Given the description of an element on the screen output the (x, y) to click on. 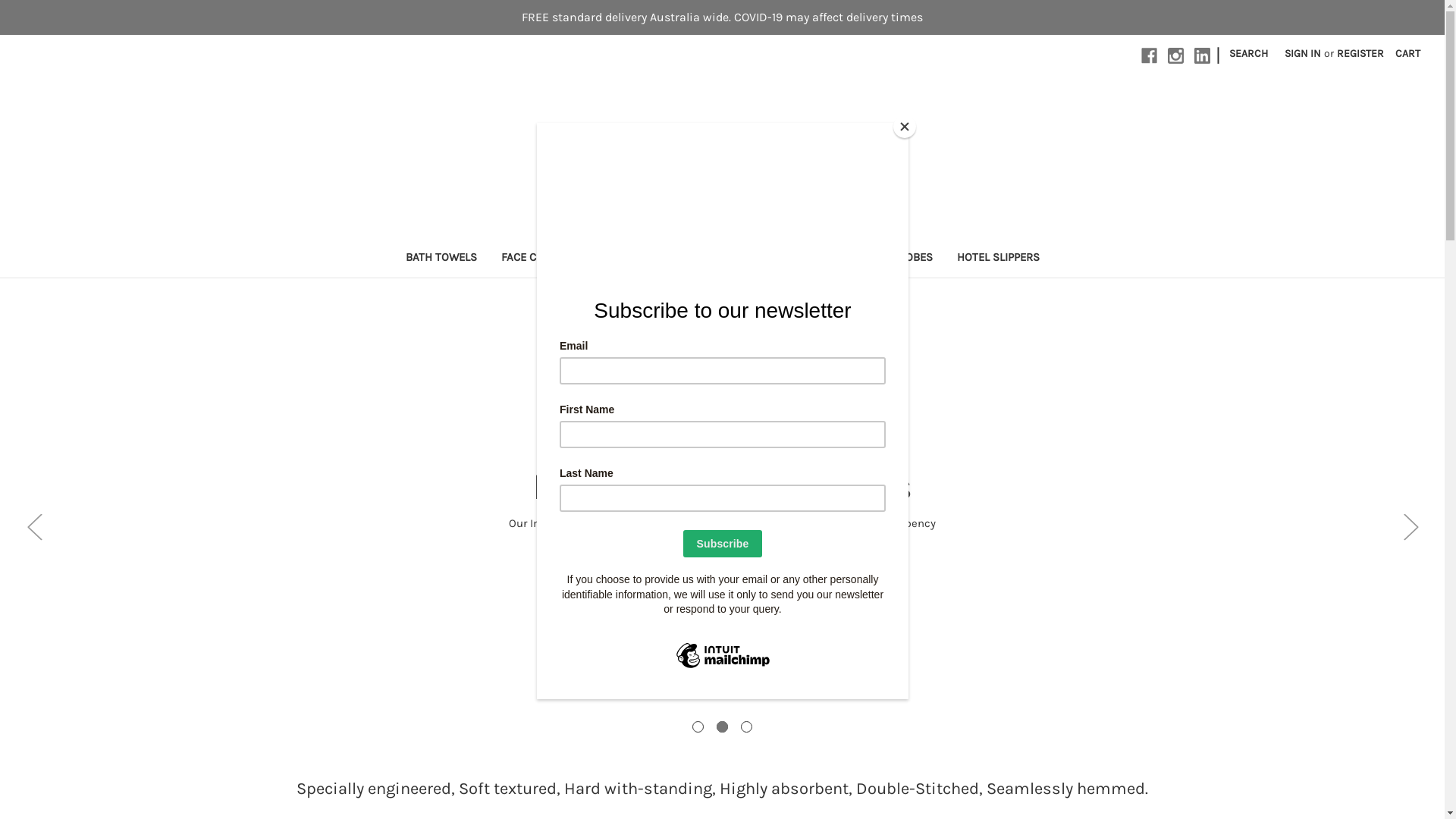
BATH MATS Element type: text (720, 258)
SEARCH Element type: text (1248, 53)
HOTEL SLIPPERS Element type: text (997, 258)
BATH TOWELS Element type: text (440, 258)
REGISTER Element type: text (1360, 53)
Lint & Linen A.B.N 61 639 822 307 Element type: hover (721, 154)
HOTEL ROBES Element type: text (897, 258)
TOWEL SETS Element type: text (806, 258)
CART Element type: text (1407, 53)
hero-next-arrow Element type: text (1410, 526)
hero-prev-arrow Element type: text (33, 526)
FACE CLOTHS Element type: text (534, 258)
HAND TOWELS Element type: text (629, 258)
SIGN IN Element type: text (1302, 53)
